Given the description of an element on the screen output the (x, y) to click on. 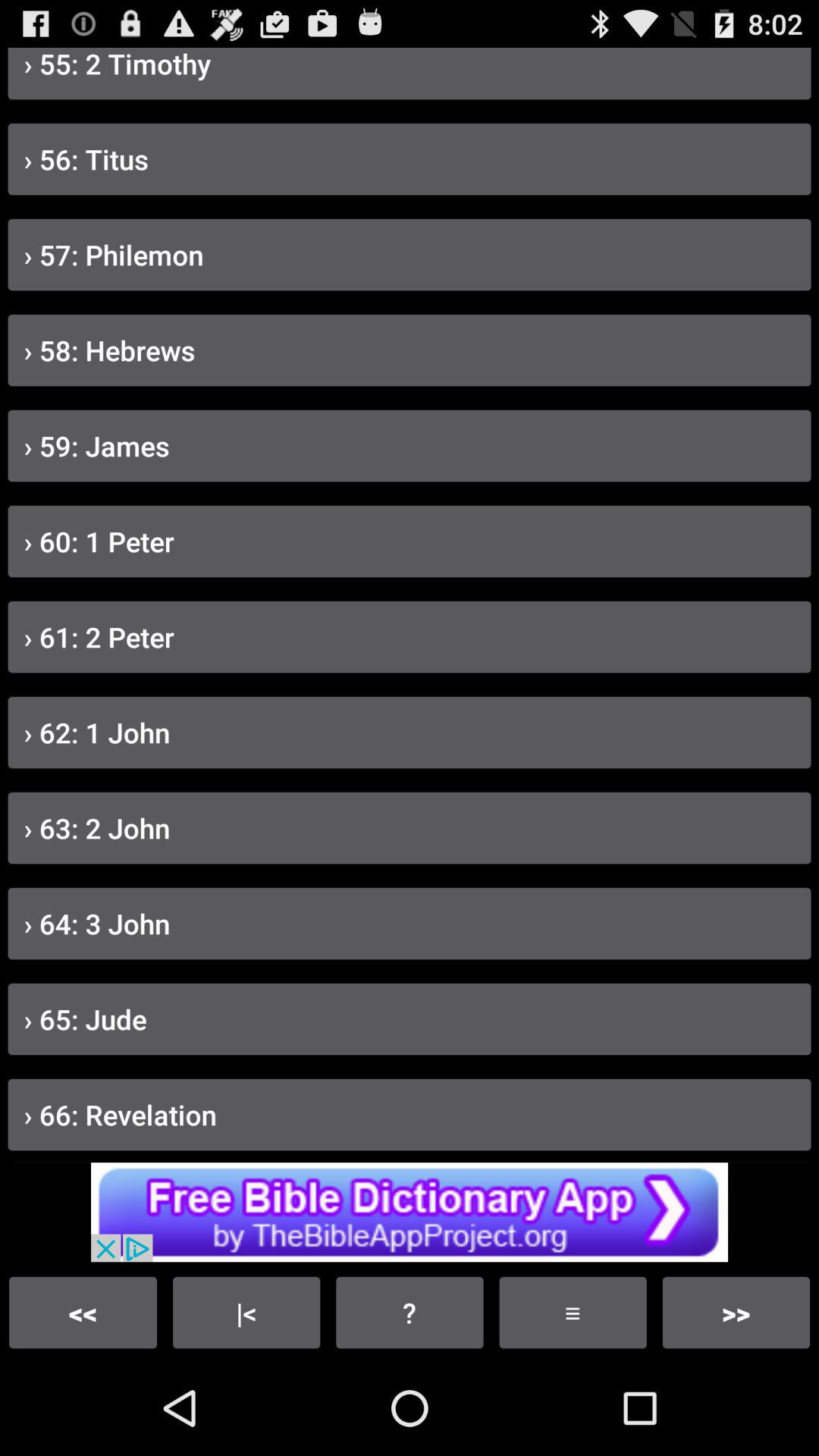
click to the add (409, 1212)
